Given the description of an element on the screen output the (x, y) to click on. 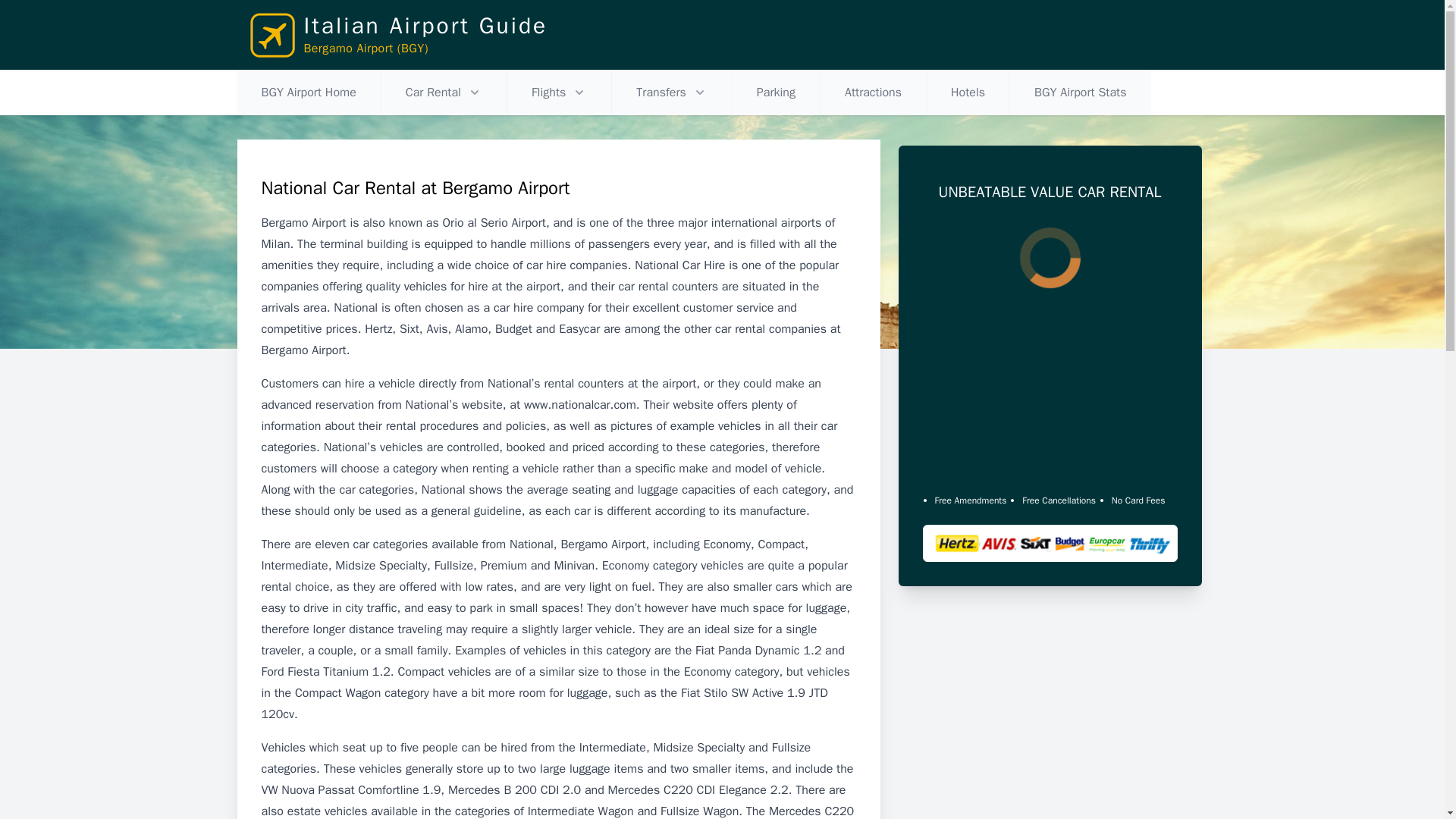
BGY Airport Home Bergamo Airport (307, 92)
Flights (558, 92)
Car Rental (443, 92)
BGY Airport Home (307, 92)
Car Rental Bergamo Airport (443, 92)
